Given the description of an element on the screen output the (x, y) to click on. 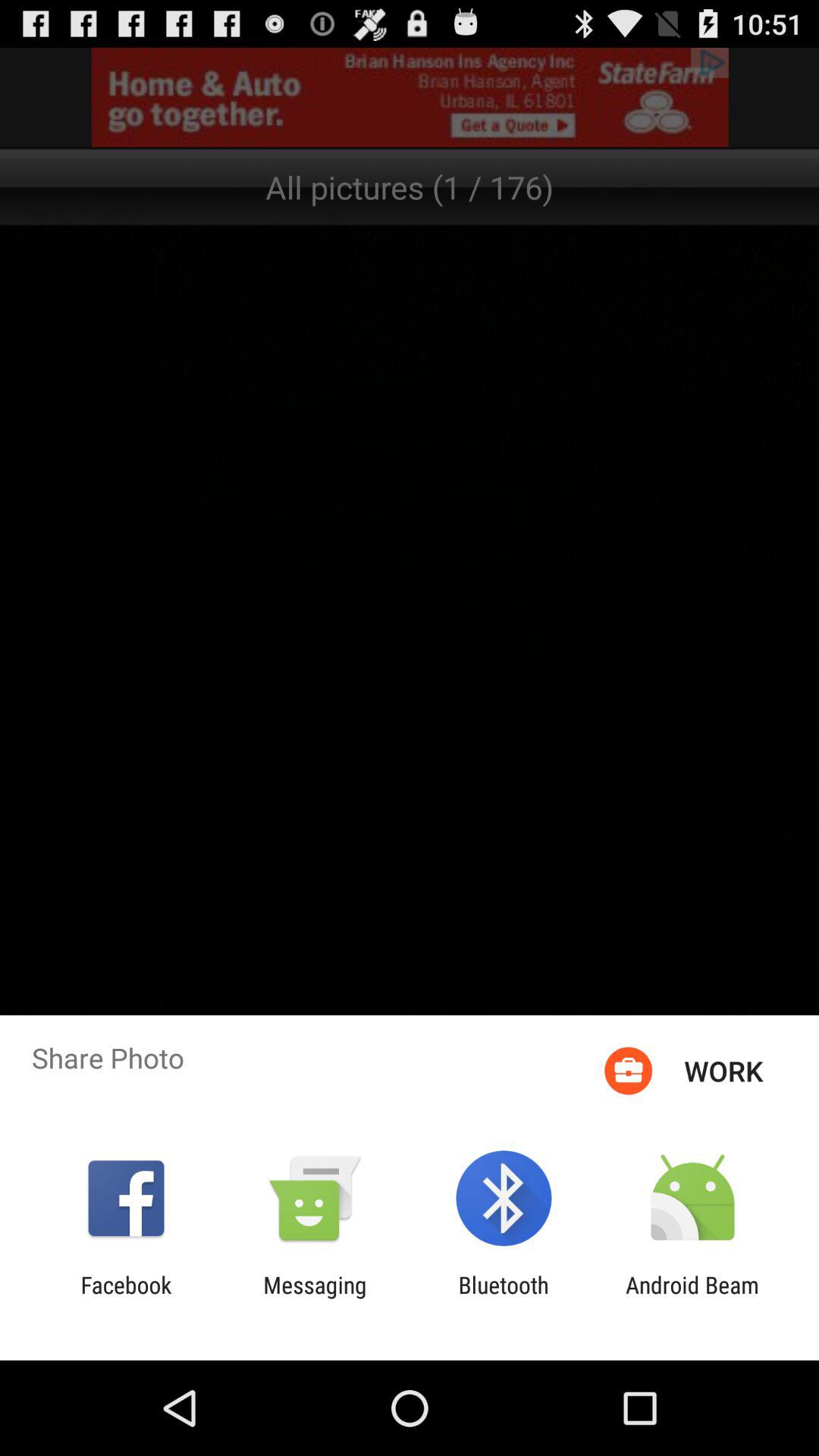
flip to messaging item (314, 1298)
